Given the description of an element on the screen output the (x, y) to click on. 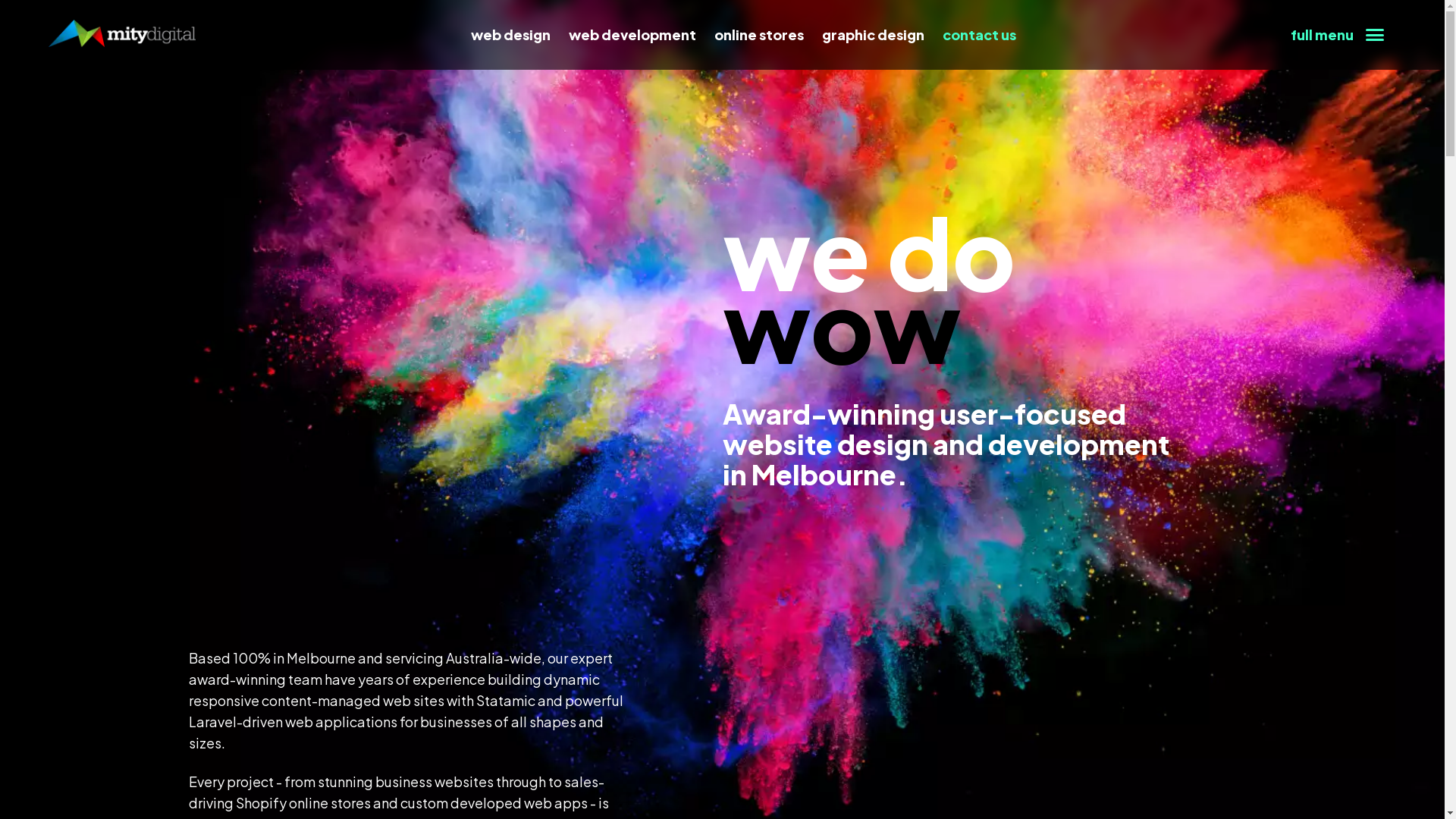
web design Element type: text (510, 34)
graphic design Element type: text (873, 34)
contact us Element type: text (979, 34)
web development Element type: text (632, 34)
online stores Element type: text (758, 34)
full menu Element type: text (1336, 34)
